Given the description of an element on the screen output the (x, y) to click on. 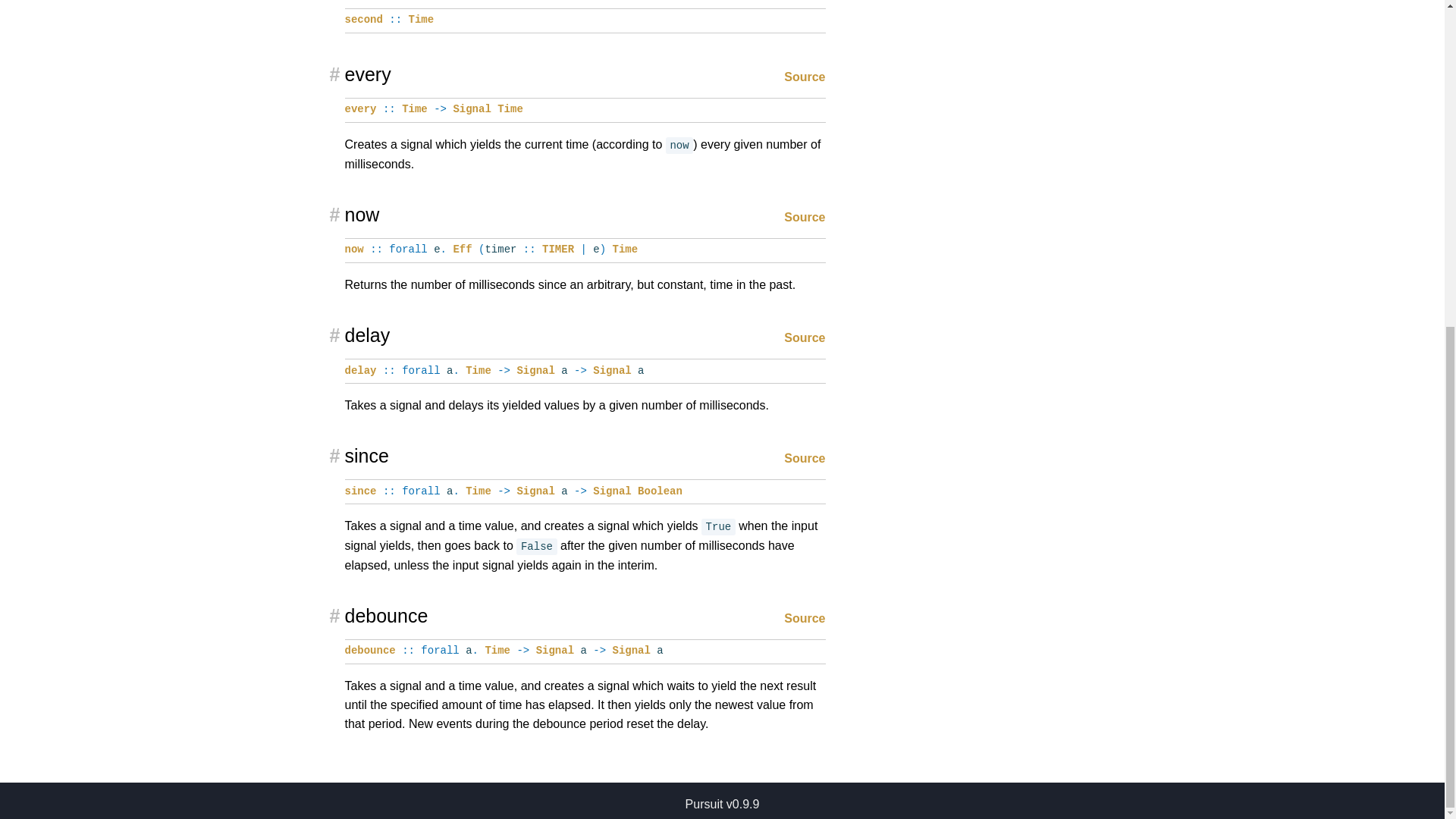
Signal.Time.second (362, 19)
Signal.Signal (535, 370)
now (352, 249)
Source (804, 216)
TIMER (557, 249)
Signal.Time.Time (509, 109)
Signal (471, 109)
Time (625, 249)
since (359, 491)
Time (478, 491)
Signal (611, 370)
Signal (535, 491)
Signal.Time.since (359, 491)
Source (804, 458)
Time (478, 370)
